Given the description of an element on the screen output the (x, y) to click on. 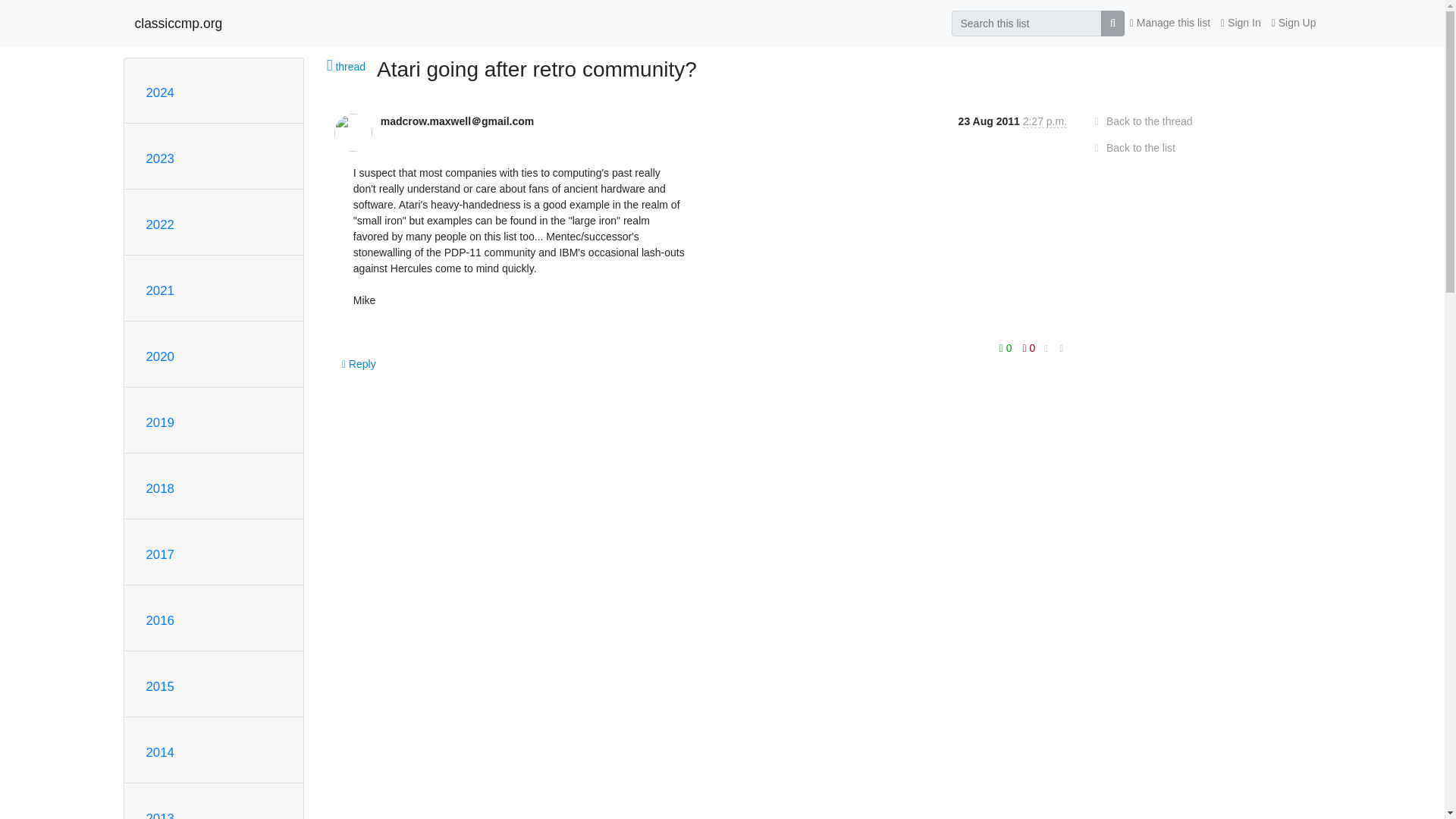
You must be logged-in to vote. (1007, 347)
2022 (159, 224)
Sign in to reply online (359, 363)
Manage this list (1169, 22)
classiccmp.org (178, 22)
Sign In (1240, 22)
2024 (159, 92)
2023 (159, 158)
Sender's time: Aug. 23, 2011, 2:27 p.m. (1045, 121)
Display in fixed font (1046, 348)
Permalink for this message (1061, 348)
You must be logged-in to vote. (1029, 347)
Sign Up (1294, 22)
